Given the description of an element on the screen output the (x, y) to click on. 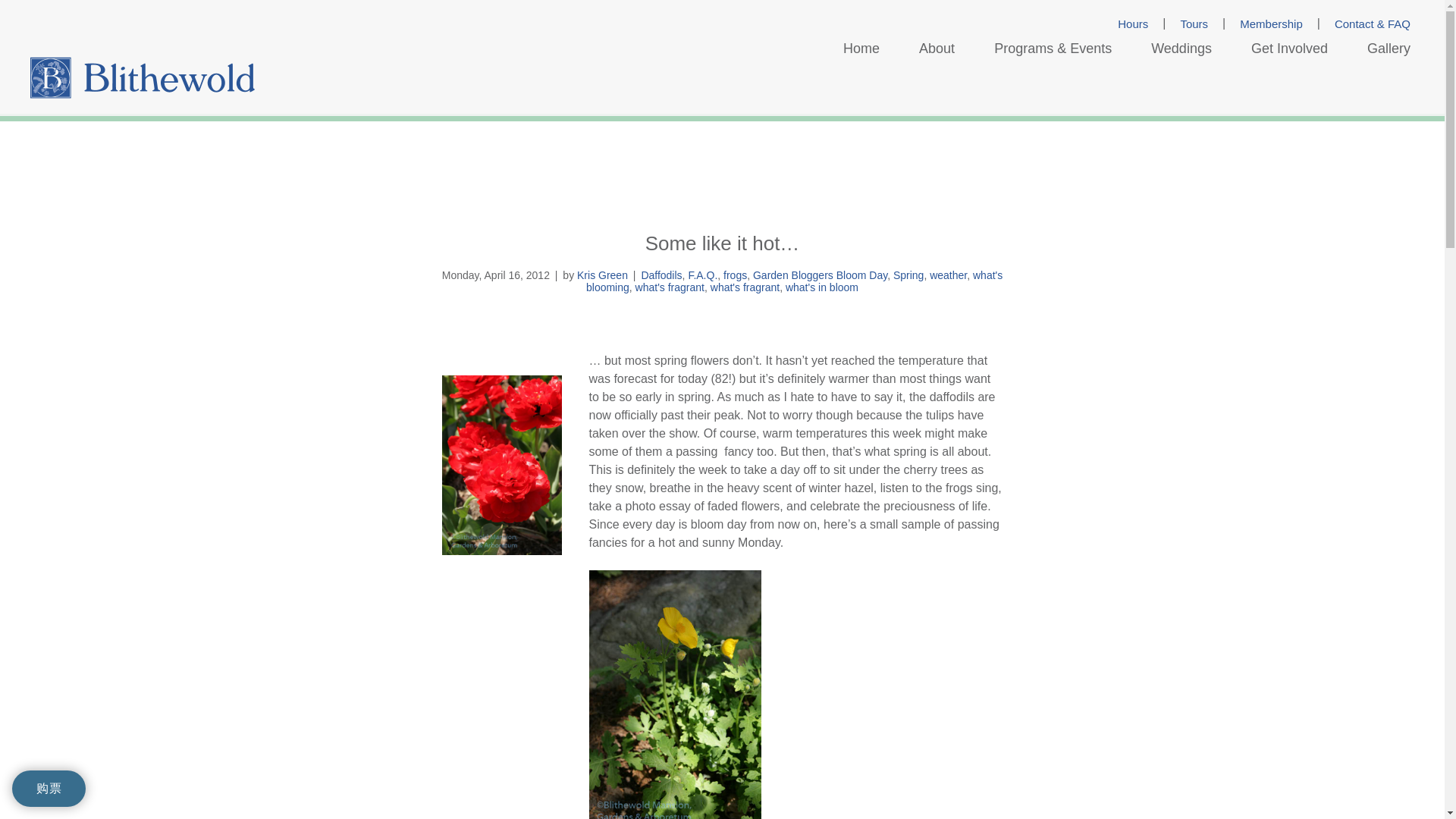
Blithewold (142, 77)
Home (861, 48)
About (936, 48)
Tours (1193, 24)
Gallery (1388, 48)
Weddings (1181, 48)
Membership (1271, 24)
Tours (1193, 24)
Home (861, 48)
Hours (1133, 24)
